Given the description of an element on the screen output the (x, y) to click on. 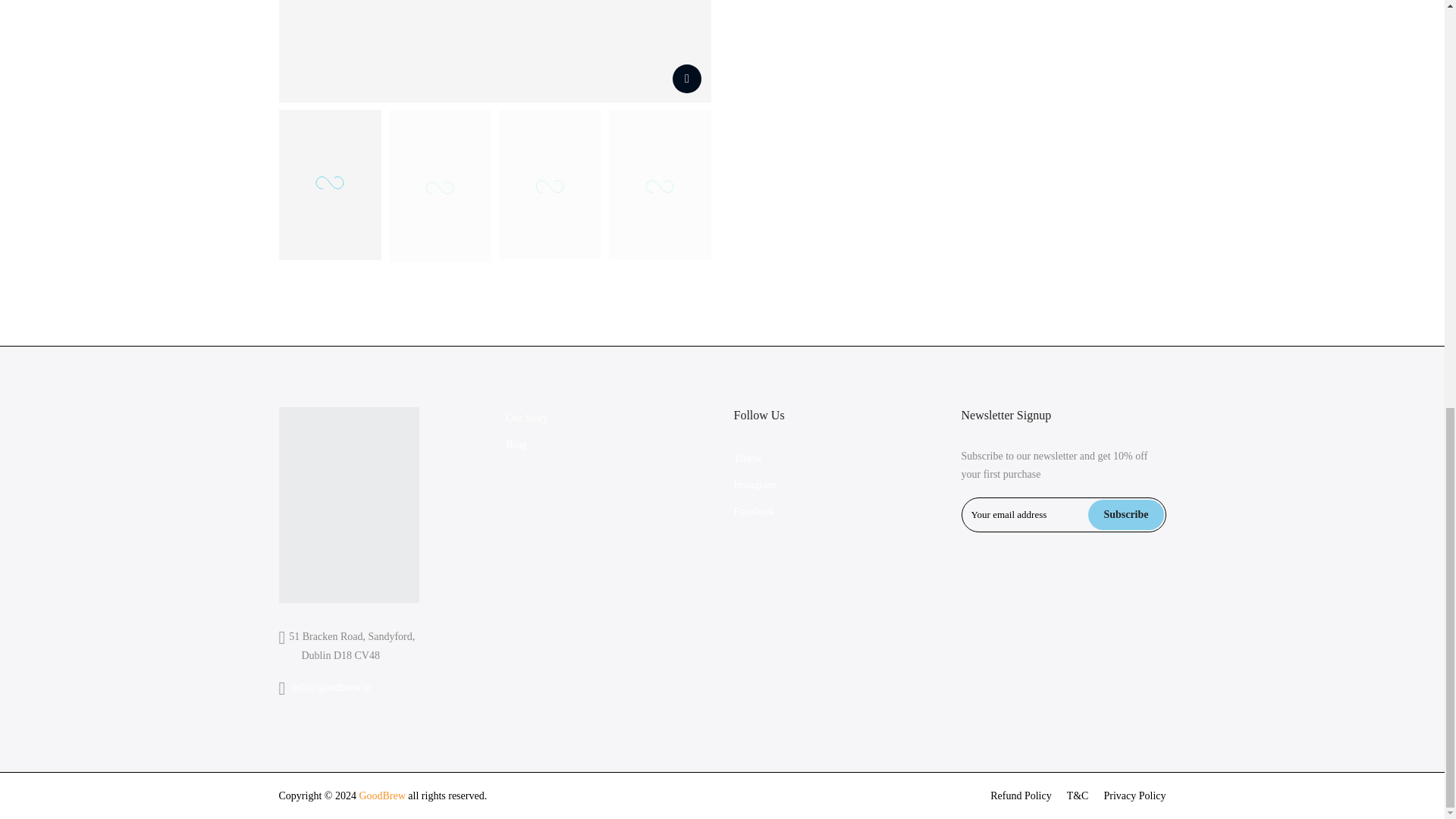
Our Story (527, 418)
Privacy Policy (1134, 795)
Tiktok (747, 458)
Facebook (753, 511)
Instagram (754, 484)
Blog (516, 444)
Subscribe (1125, 514)
Refund Policy (1020, 795)
